Given the description of an element on the screen output the (x, y) to click on. 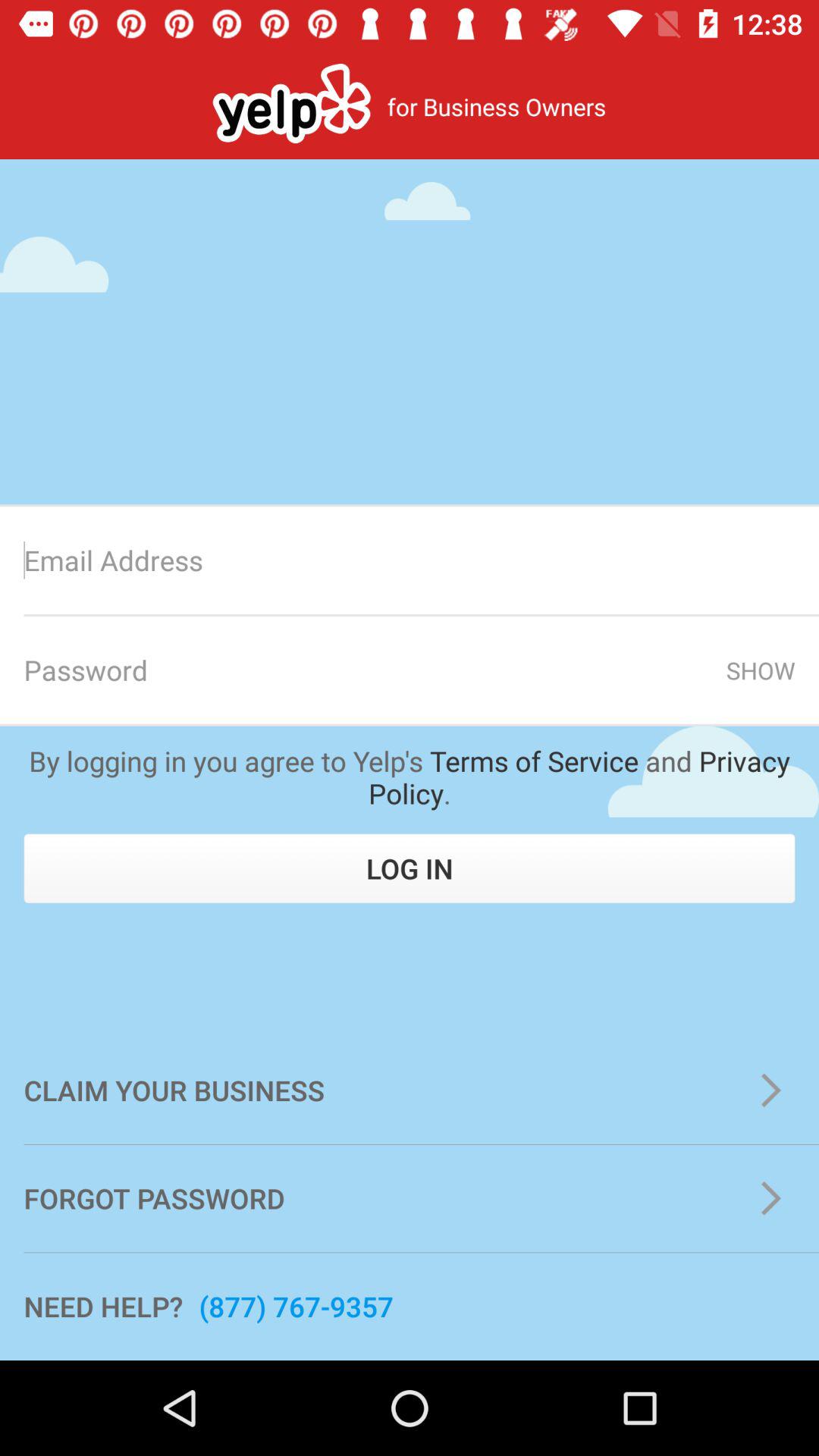
jump to claim your business icon (409, 1090)
